Given the description of an element on the screen output the (x, y) to click on. 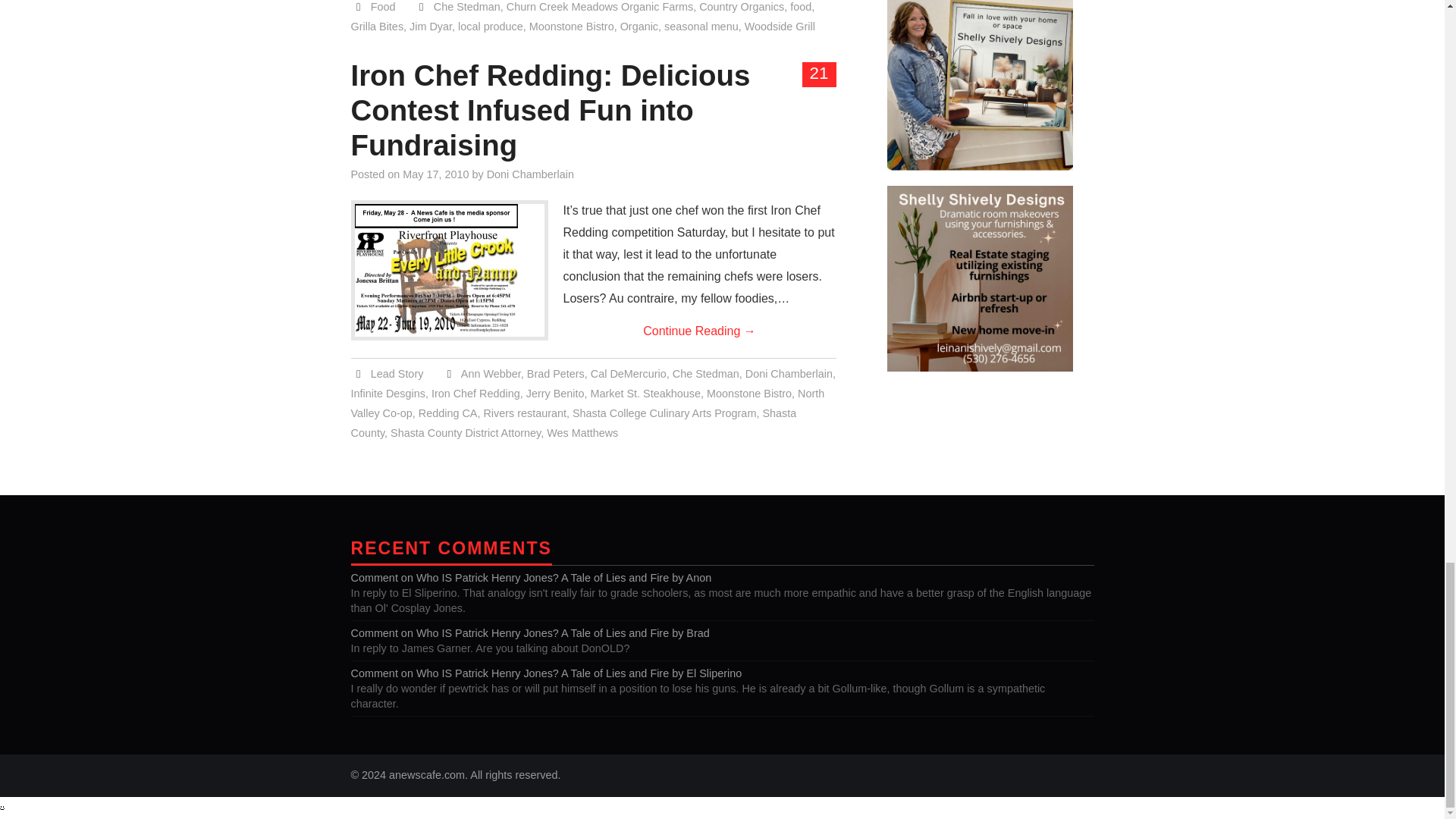
View all posts by Doni Chamberlain (529, 174)
5:00 am (435, 174)
